Given the description of an element on the screen output the (x, y) to click on. 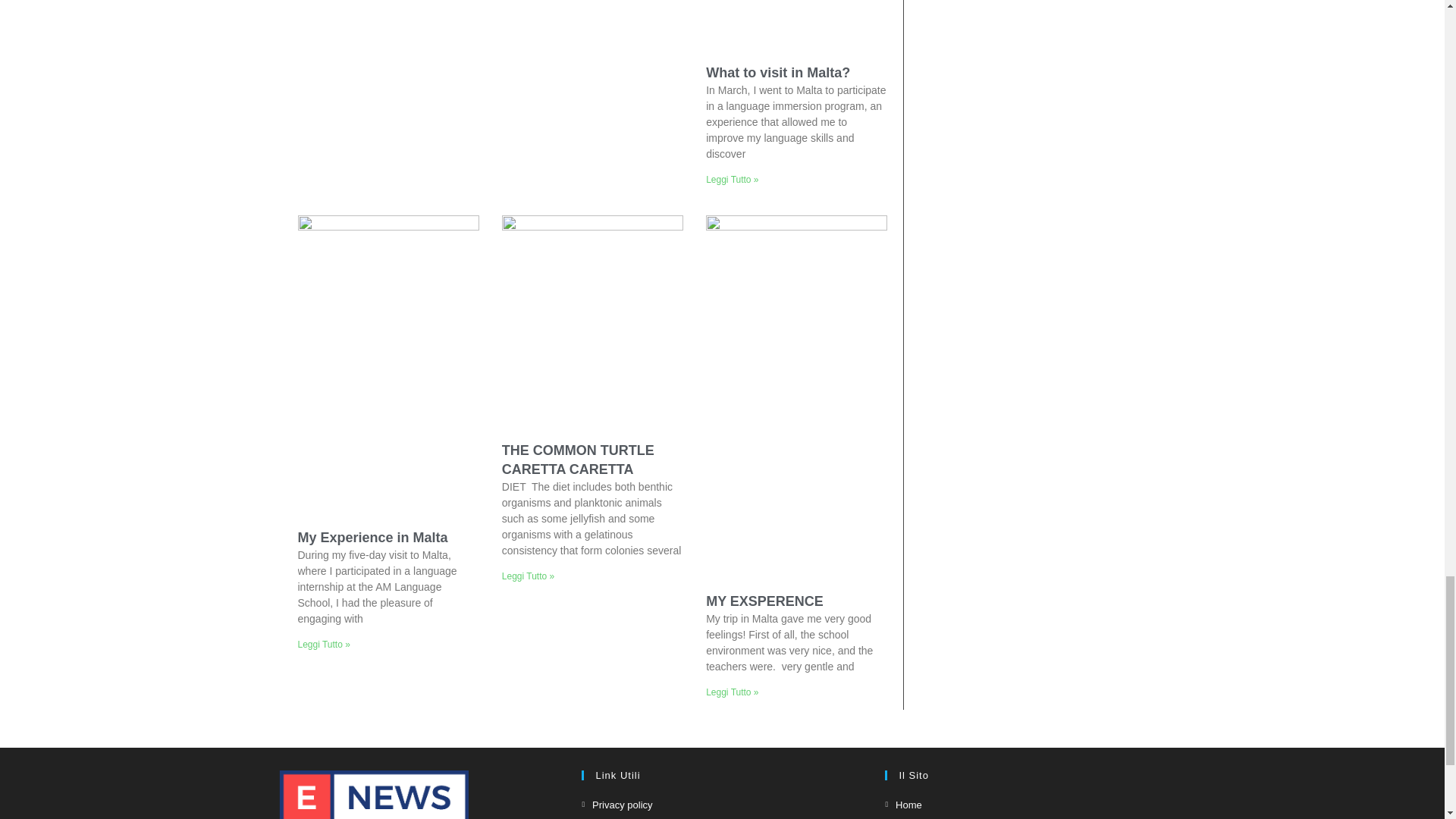
My Experience in Malta (371, 537)
THE COMMON TURTLE CARETTA CARETTA (577, 459)
MY EXSPERENCE (765, 601)
What to visit in Malta? (778, 72)
